Given the description of an element on the screen output the (x, y) to click on. 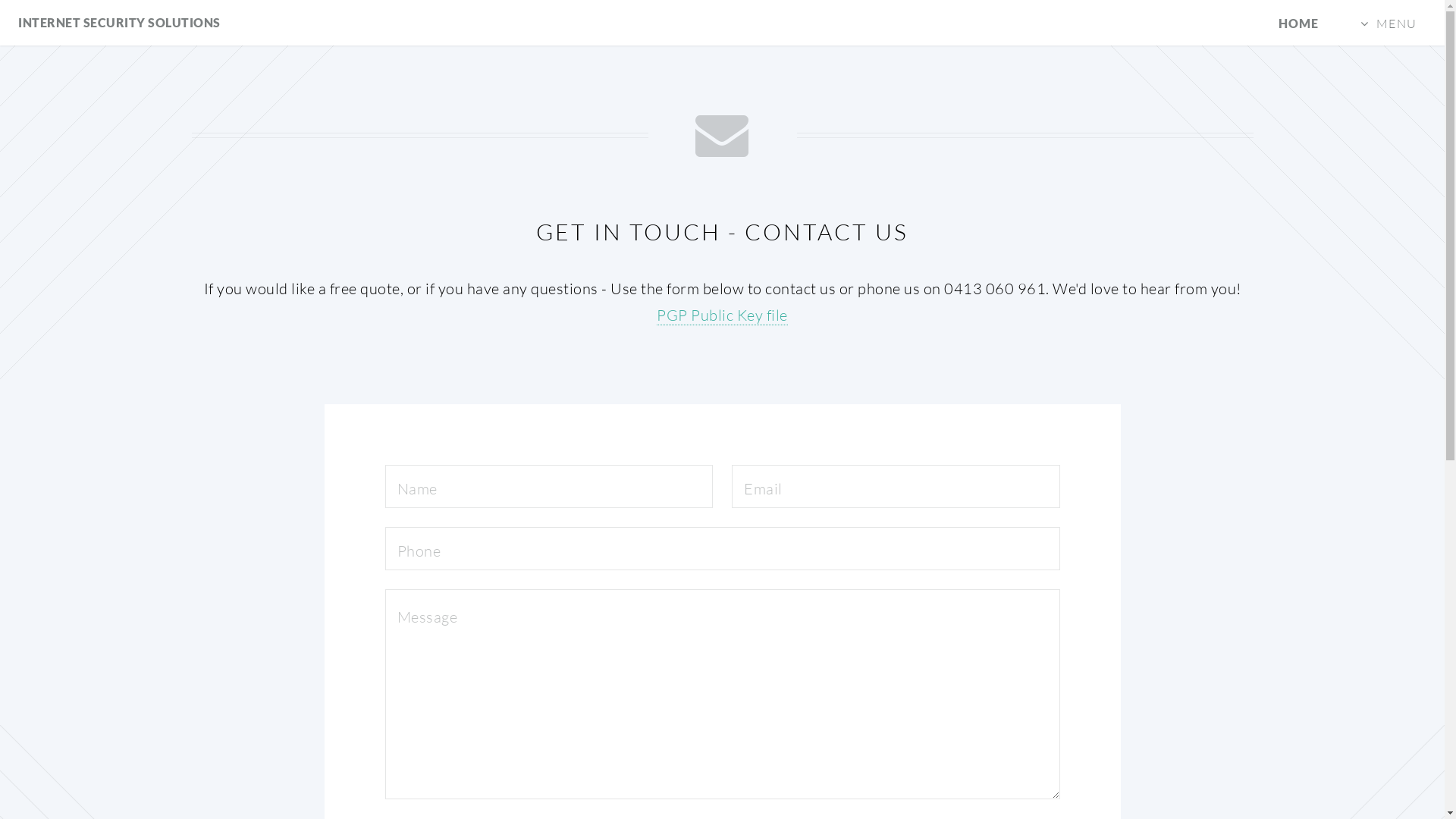
MENU Element type: text (1388, 23)
PGP Public Key file Element type: text (721, 314)
HOME Element type: text (1298, 23)
